Given the description of an element on the screen output the (x, y) to click on. 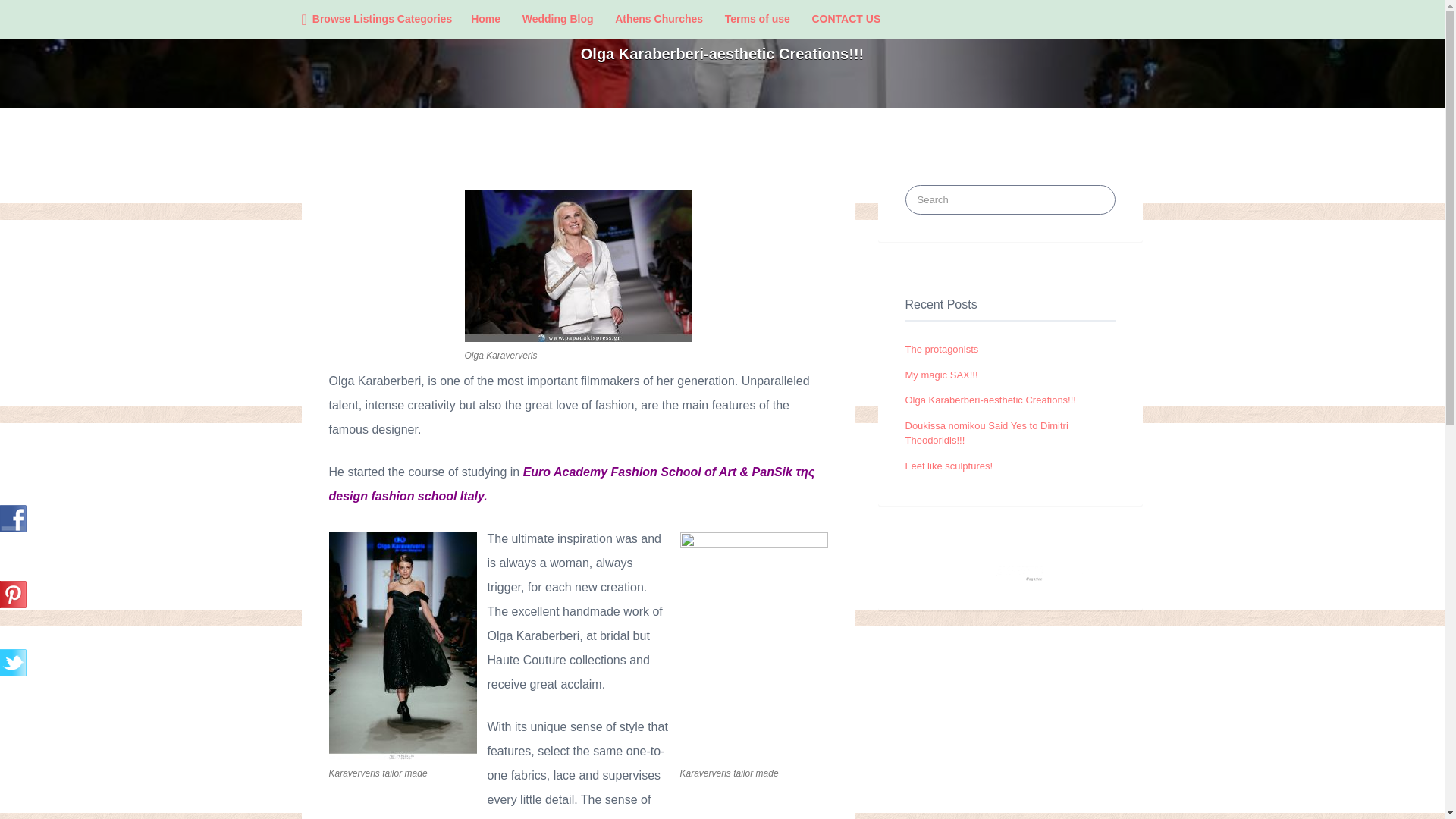
Wedding Blog (558, 19)
Terms of use (757, 19)
Athens Churches (658, 19)
Browse Listings Categories (373, 19)
CONTACT US (845, 19)
